Given the description of an element on the screen output the (x, y) to click on. 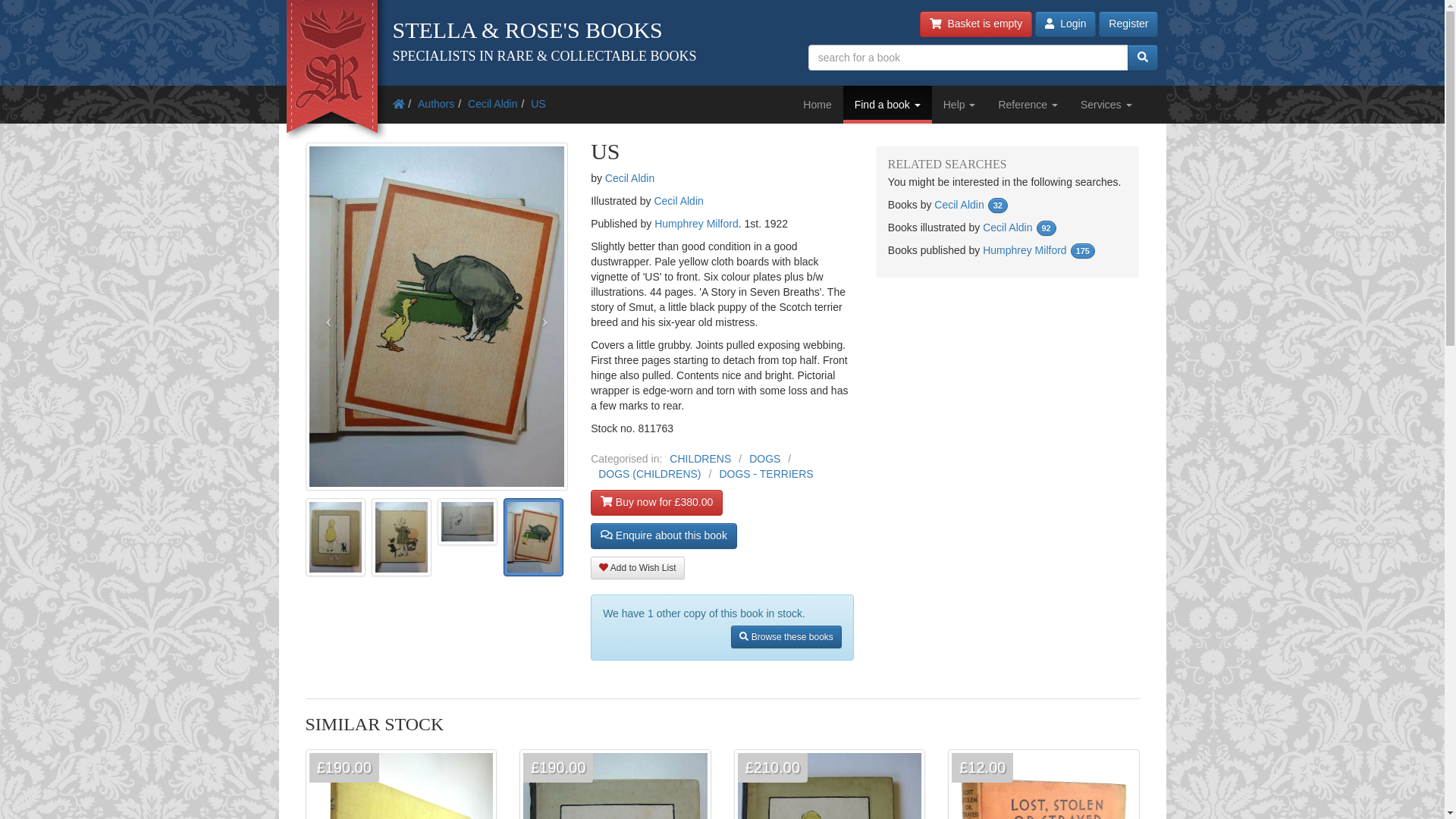
Home (817, 104)
Register (1128, 23)
  Basket is empty (976, 23)
  Login (1065, 23)
Authors (435, 103)
Authors (435, 103)
Reference (1027, 104)
US (537, 103)
Help (959, 104)
Find a book (887, 104)
Cecil Aldin (491, 103)
US (537, 103)
Services (1105, 104)
Cecil Aldin (491, 103)
